Given the description of an element on the screen output the (x, y) to click on. 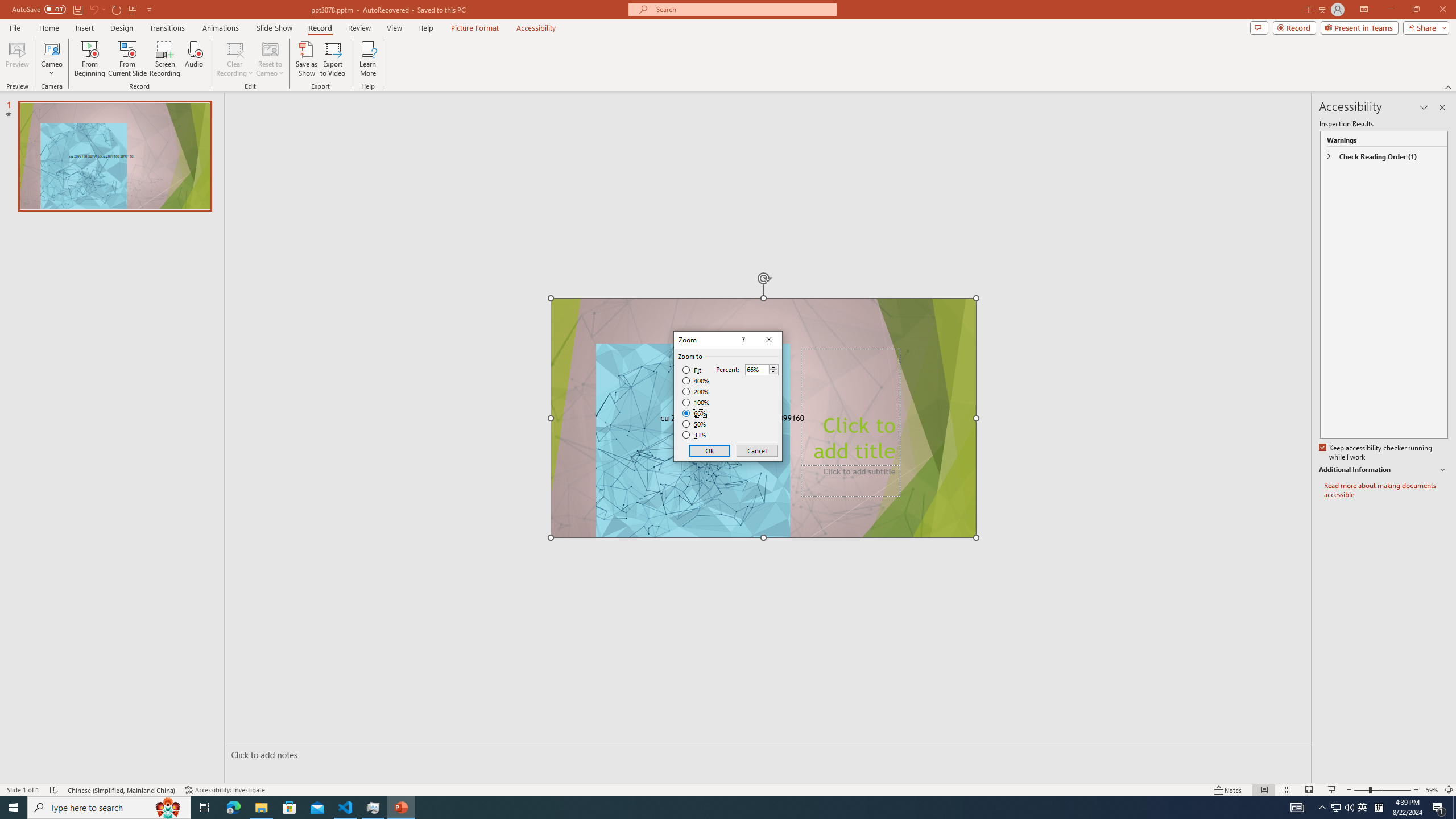
Action Center, 1 new notification (1439, 807)
Picture Format (475, 28)
Context help (742, 339)
Zoom 59% (1431, 790)
